Given the description of an element on the screen output the (x, y) to click on. 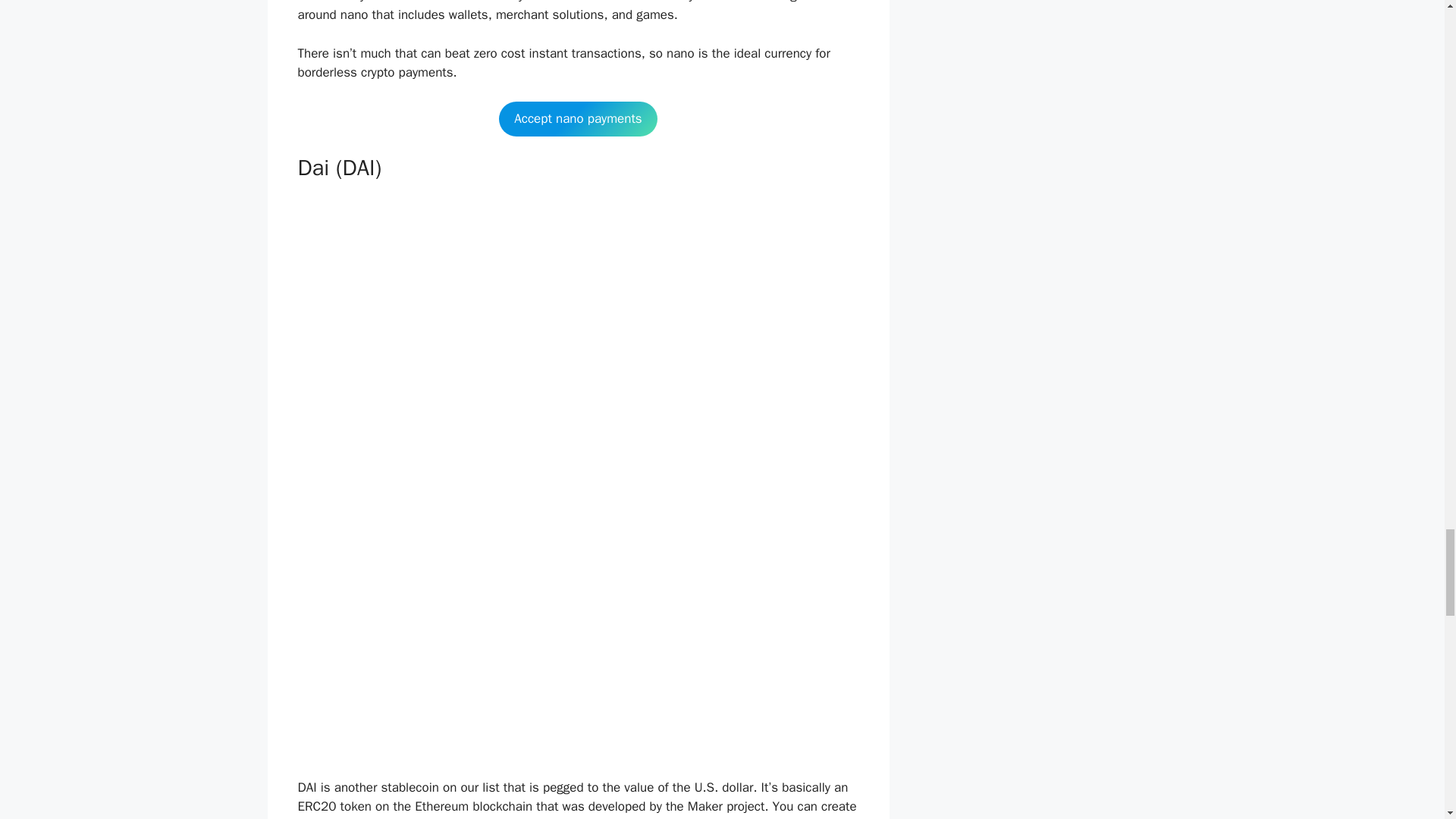
Accept nano payments (577, 118)
